Given the description of an element on the screen output the (x, y) to click on. 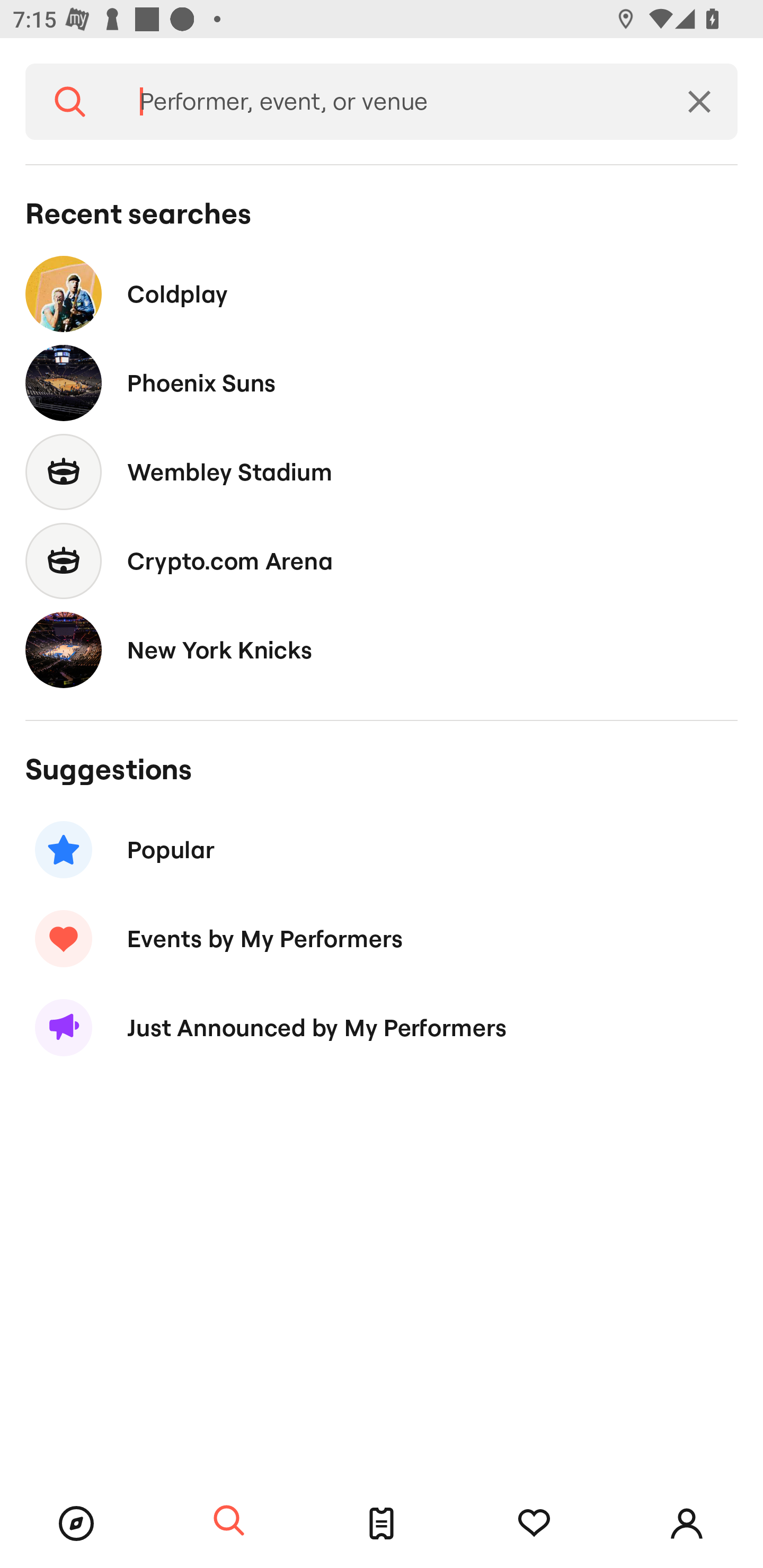
Search (69, 101)
Performer, event, or venue (387, 101)
Clear (699, 101)
Coldplay (381, 293)
Phoenix Suns (381, 383)
Wembley Stadium (381, 471)
Crypto.com Arena (381, 560)
New York Knicks (381, 649)
Popular (381, 849)
Events by My Performers (381, 938)
Just Announced by My Performers (381, 1027)
Browse (76, 1523)
Search (228, 1521)
Tickets (381, 1523)
Tracking (533, 1523)
Account (686, 1523)
